Given the description of an element on the screen output the (x, y) to click on. 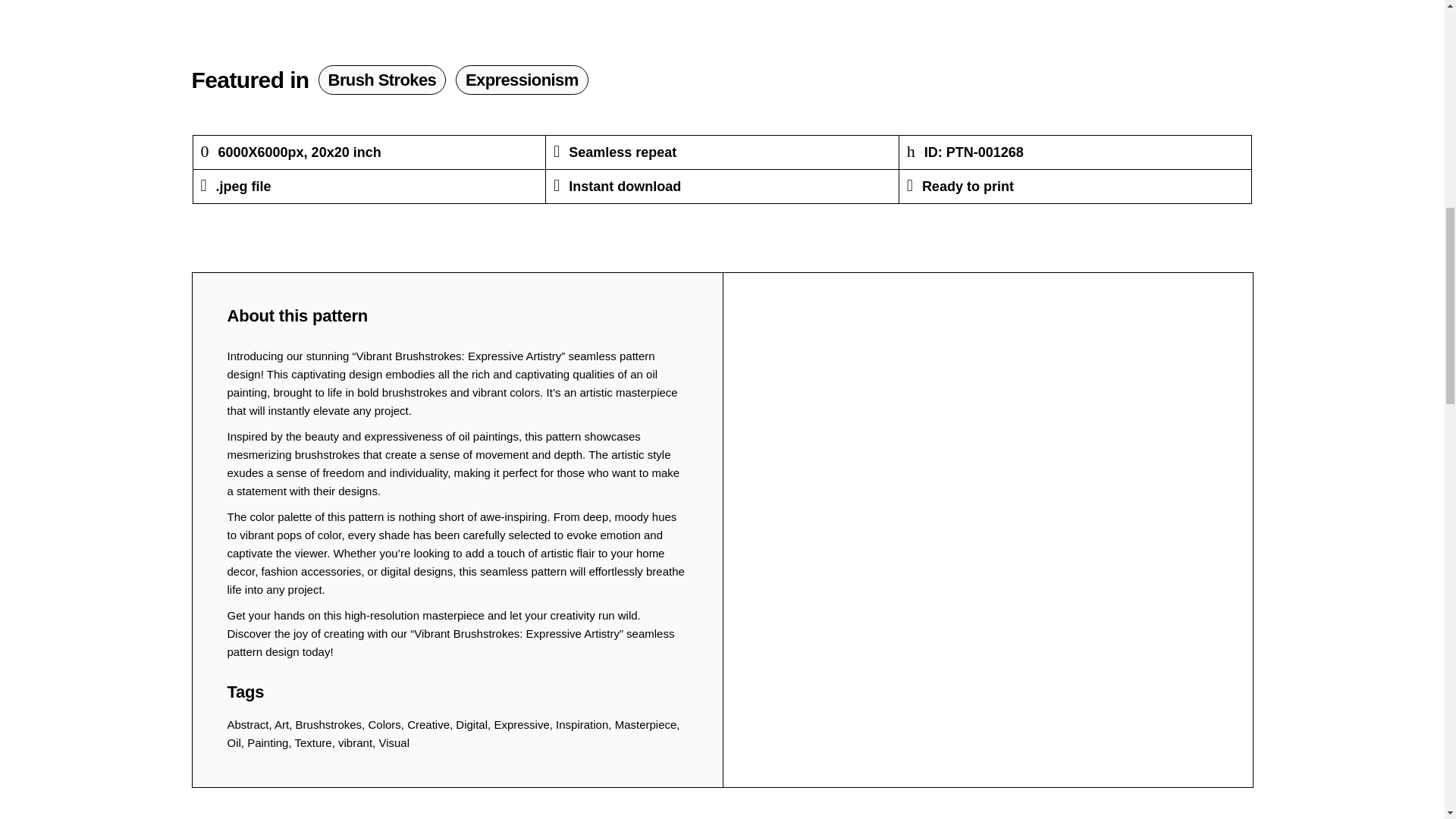
Expressionism (521, 80)
Art (281, 724)
Digital (471, 724)
Creative (428, 724)
Colors (384, 724)
Brush Strokes (382, 80)
Abstract (248, 724)
Brushstrokes (328, 724)
